Given the description of an element on the screen output the (x, y) to click on. 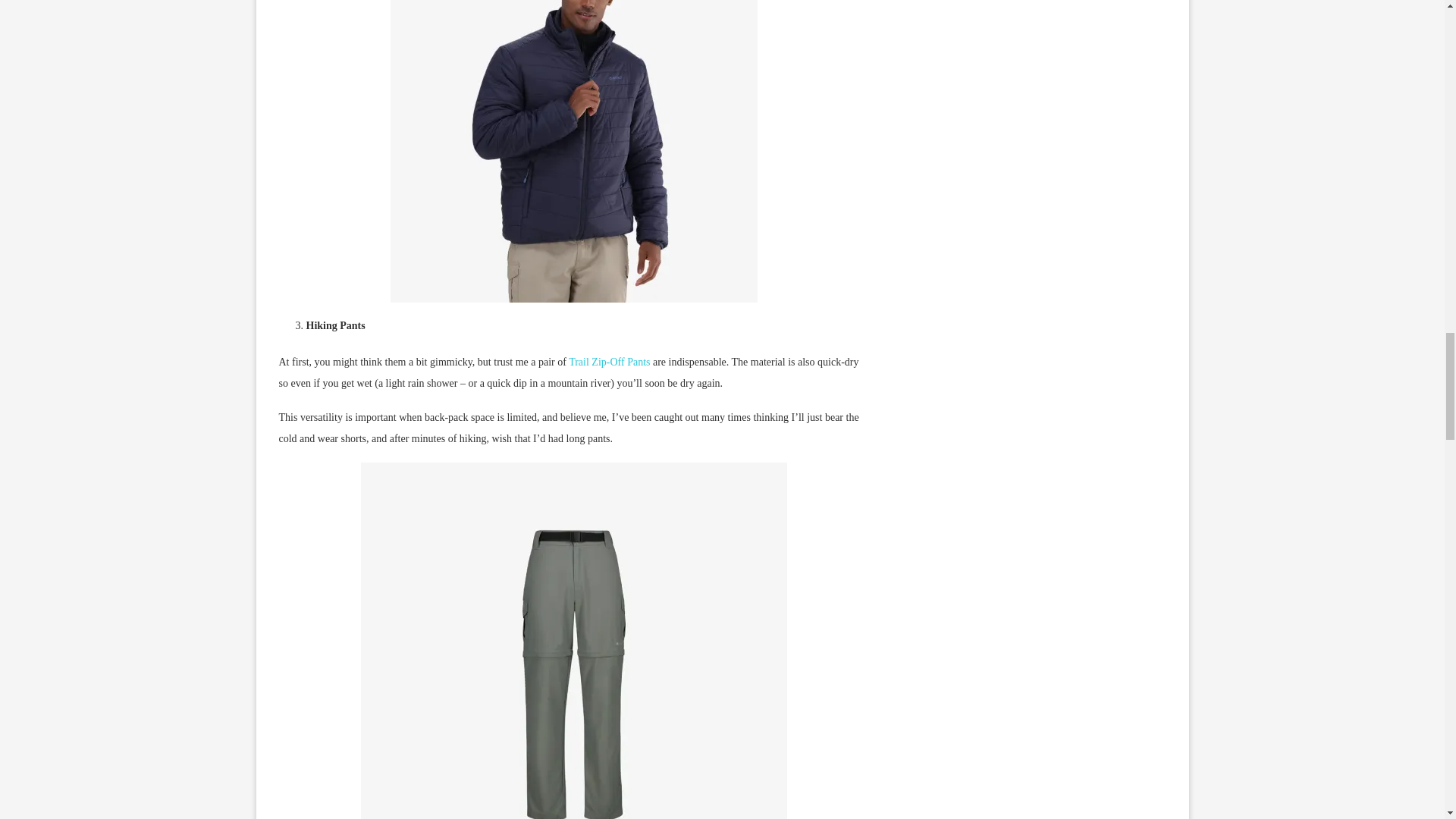
Trail Zip-Off Pants (609, 361)
